Given the description of an element on the screen output the (x, y) to click on. 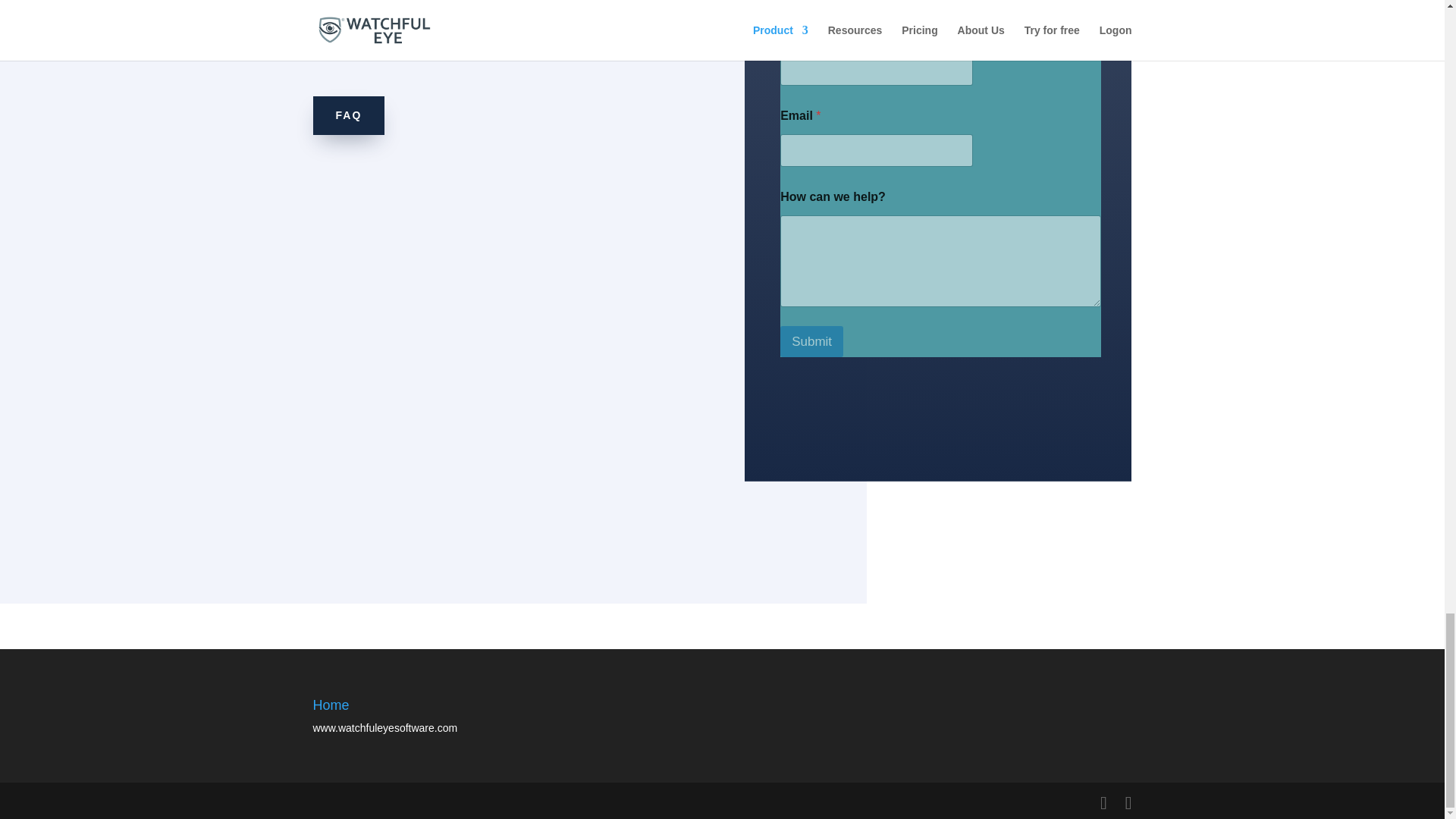
Submit (811, 341)
www.watchfuleyesoftware.com (385, 727)
FAQ (348, 115)
